Given the description of an element on the screen output the (x, y) to click on. 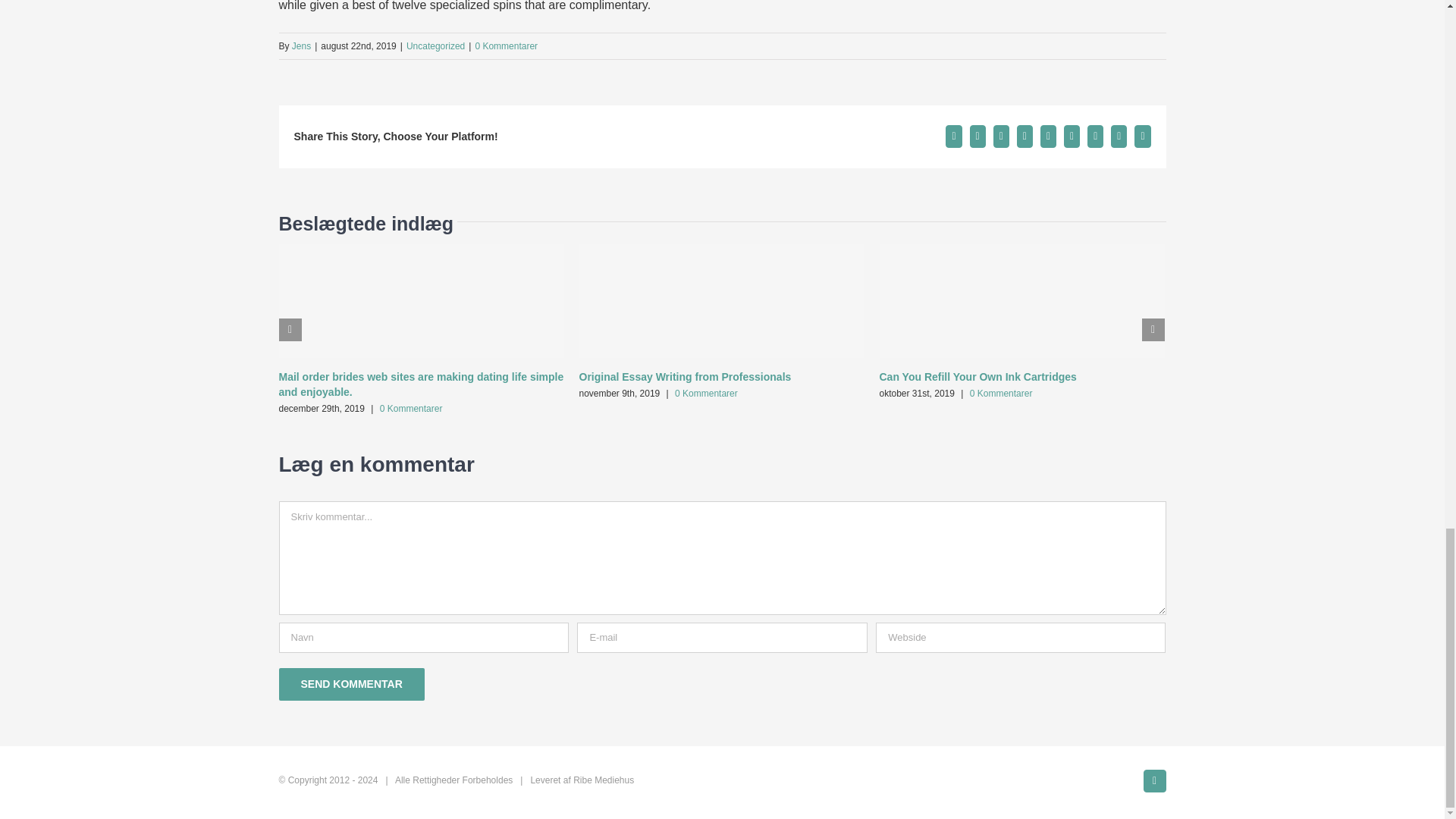
0 Kommentarer (706, 393)
Jens (301, 45)
Send kommentar (352, 684)
Uncategorized (435, 45)
0 Kommentarer (411, 408)
Original Essay Writing from Professionals (685, 377)
Can You Refill Your Own Ink Cartridges (978, 377)
Original Essay Writing from Professionals (685, 377)
